Given the description of an element on the screen output the (x, y) to click on. 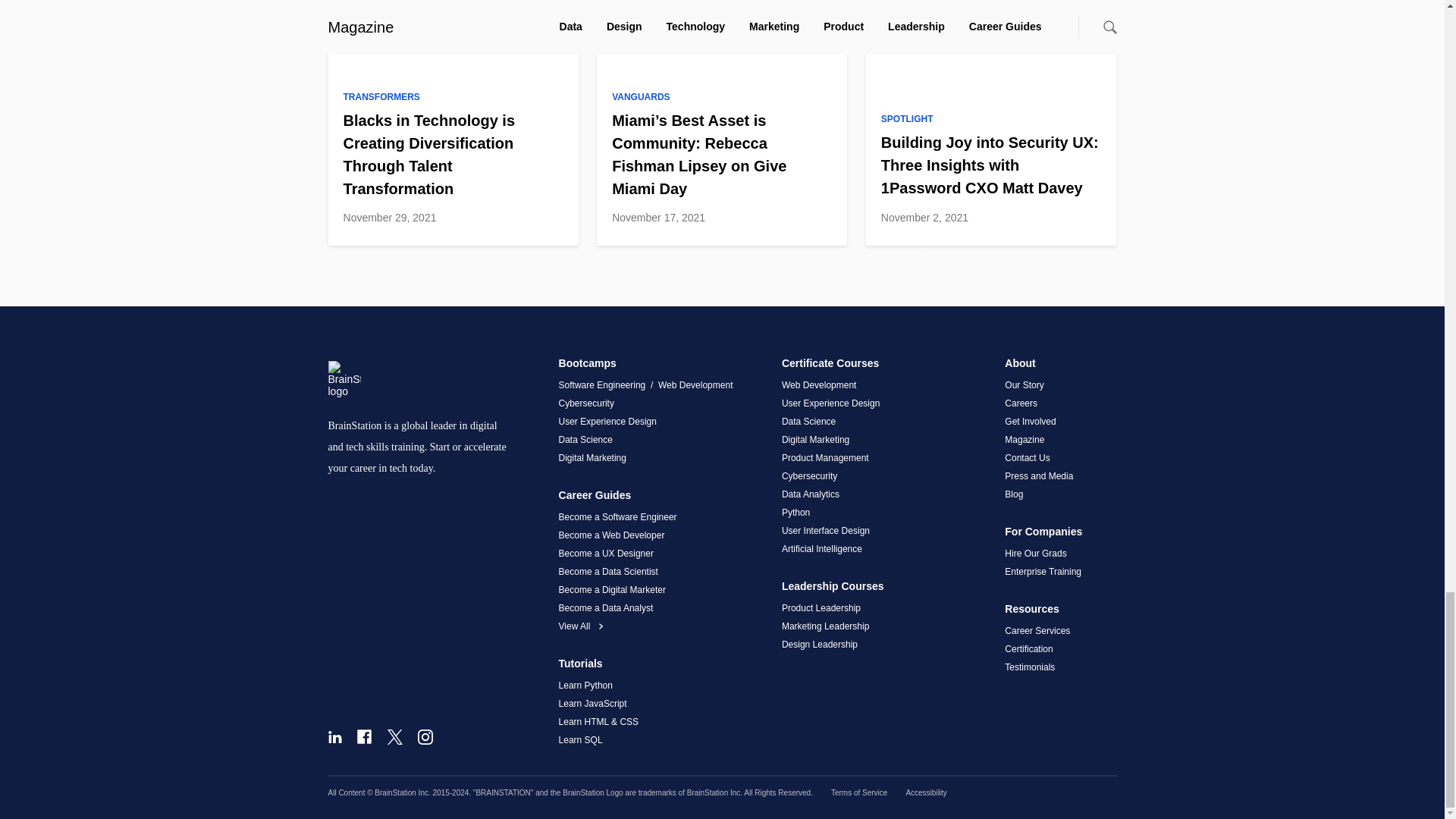
BrainStation Instagram (424, 736)
BrainStation Facebook (363, 736)
BrainStation LinkedIn (333, 736)
BrainStation X (394, 736)
